Given the description of an element on the screen output the (x, y) to click on. 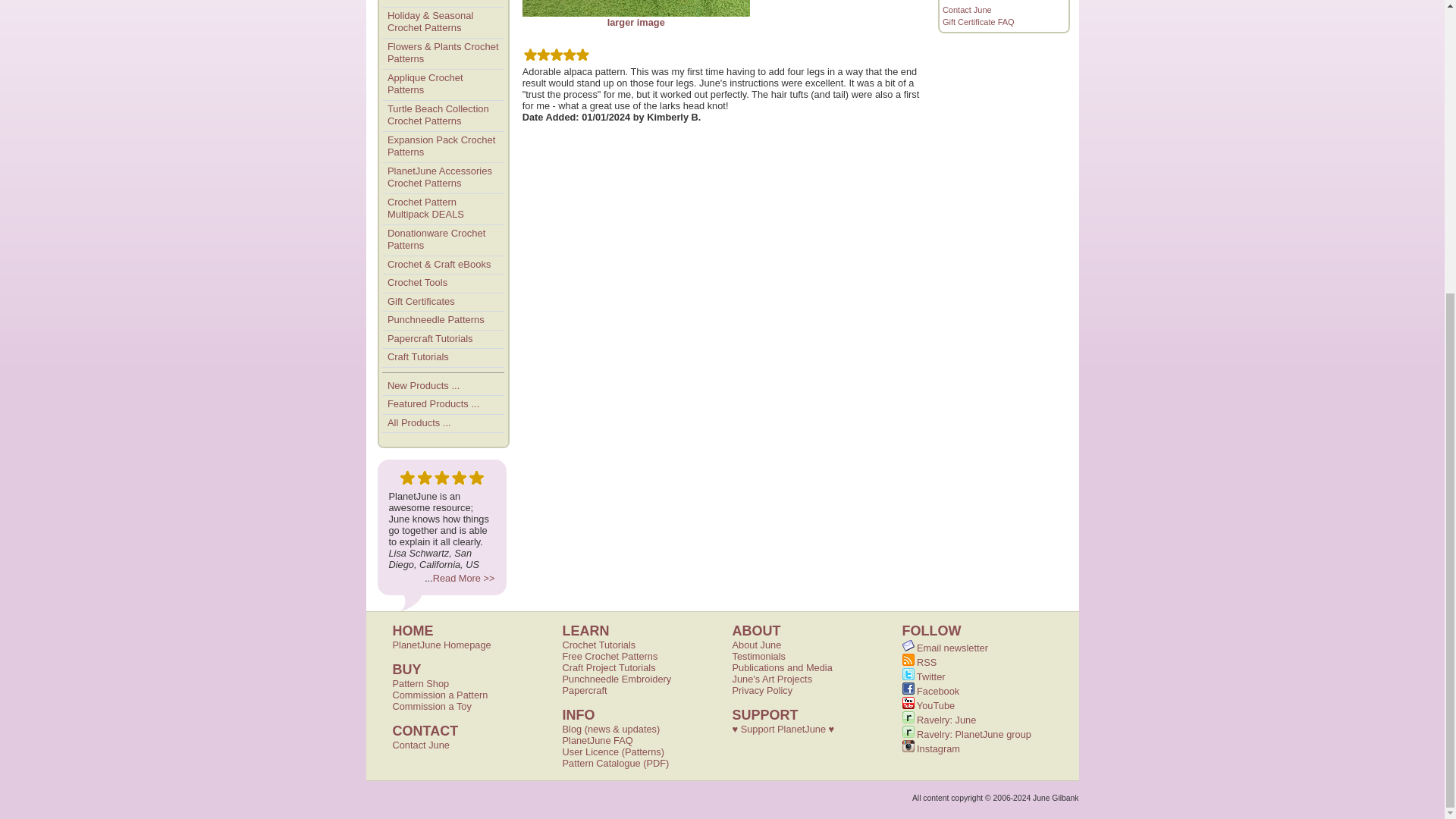
Craft Tutorials (442, 357)
Crochet Tools (442, 283)
larger image (635, 17)
Turtle Beach Collection Crochet Patterns (442, 115)
Papercraft Tutorials (442, 339)
PlanetJune Accessories Crochet Patterns (442, 177)
Applique Crochet Patterns (442, 84)
Expansion Pack Crochet Patterns (442, 146)
Punchneedle Patterns (442, 321)
Gift Certificates (442, 302)
New Products ... (442, 386)
Alpaca amigurumi crochet pattern (635, 17)
Crochet Pattern Multipack DEALS (442, 209)
Donationware Crochet Patterns (442, 240)
Alpaca amigurumi crochet pattern (635, 8)
